Given the description of an element on the screen output the (x, y) to click on. 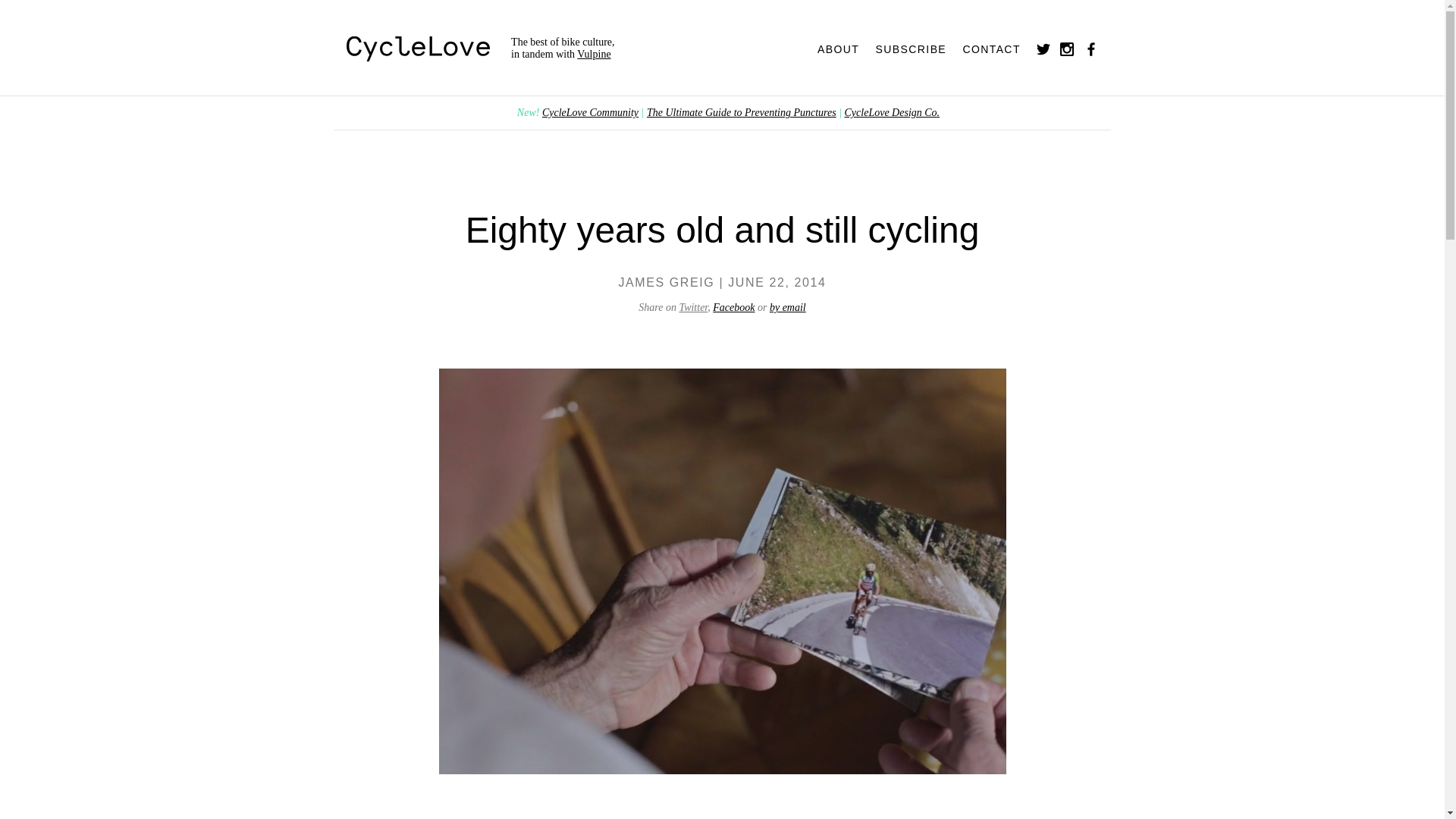
CycleLove Community Element type: text (590, 112)
Facebook Element type: text (733, 307)
CycleLove Design Co. Element type: text (892, 112)
SUBSCRIBE Element type: text (917, 49)
by email Element type: text (787, 307)
CONTACT Element type: text (997, 49)
Twitter Element type: text (692, 307)
Vulpine Element type: text (593, 53)
ABOUT Element type: text (844, 49)
The Ultimate Guide to Preventing Punctures Element type: text (741, 112)
